Given the description of an element on the screen output the (x, y) to click on. 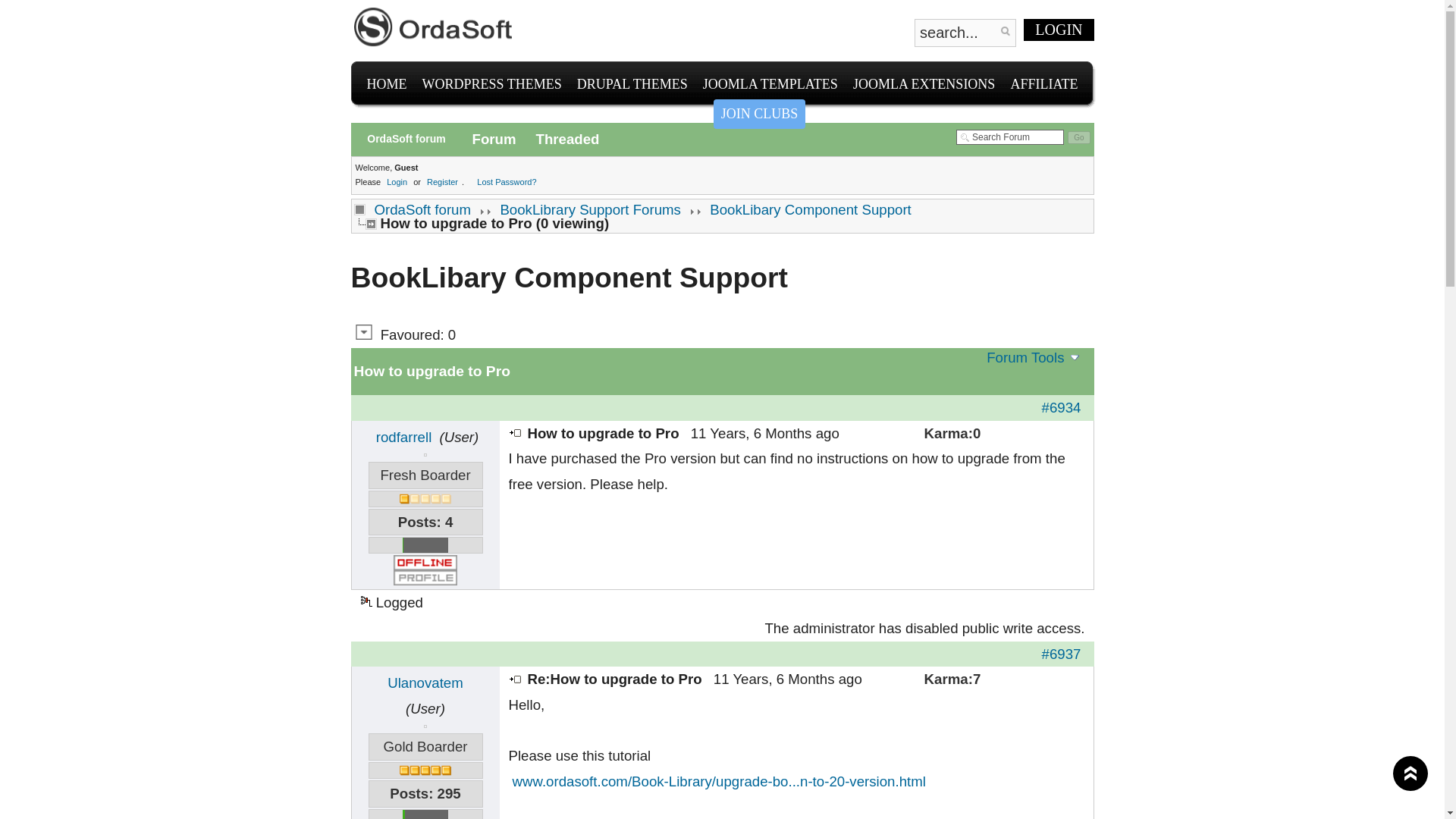
JOOMLA TEMPLATES (770, 84)
Go (1078, 137)
OrdaSoft (434, 27)
Go to bottom (363, 331)
Go (1078, 137)
Search (1004, 30)
Search Forum (1010, 136)
Search (1004, 30)
search... (965, 32)
Search (1004, 30)
